Given the description of an element on the screen output the (x, y) to click on. 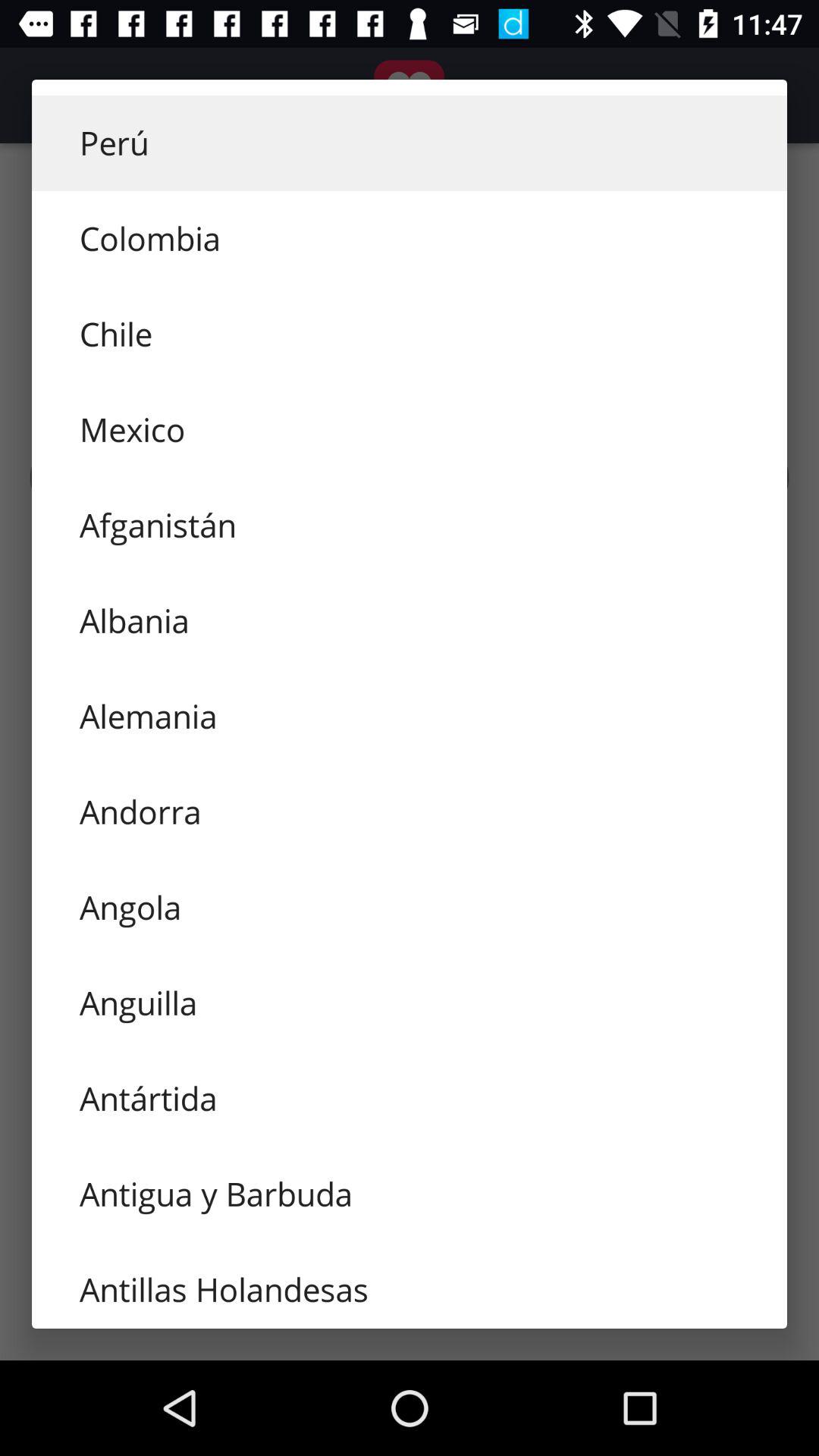
scroll to andorra (409, 811)
